Given the description of an element on the screen output the (x, y) to click on. 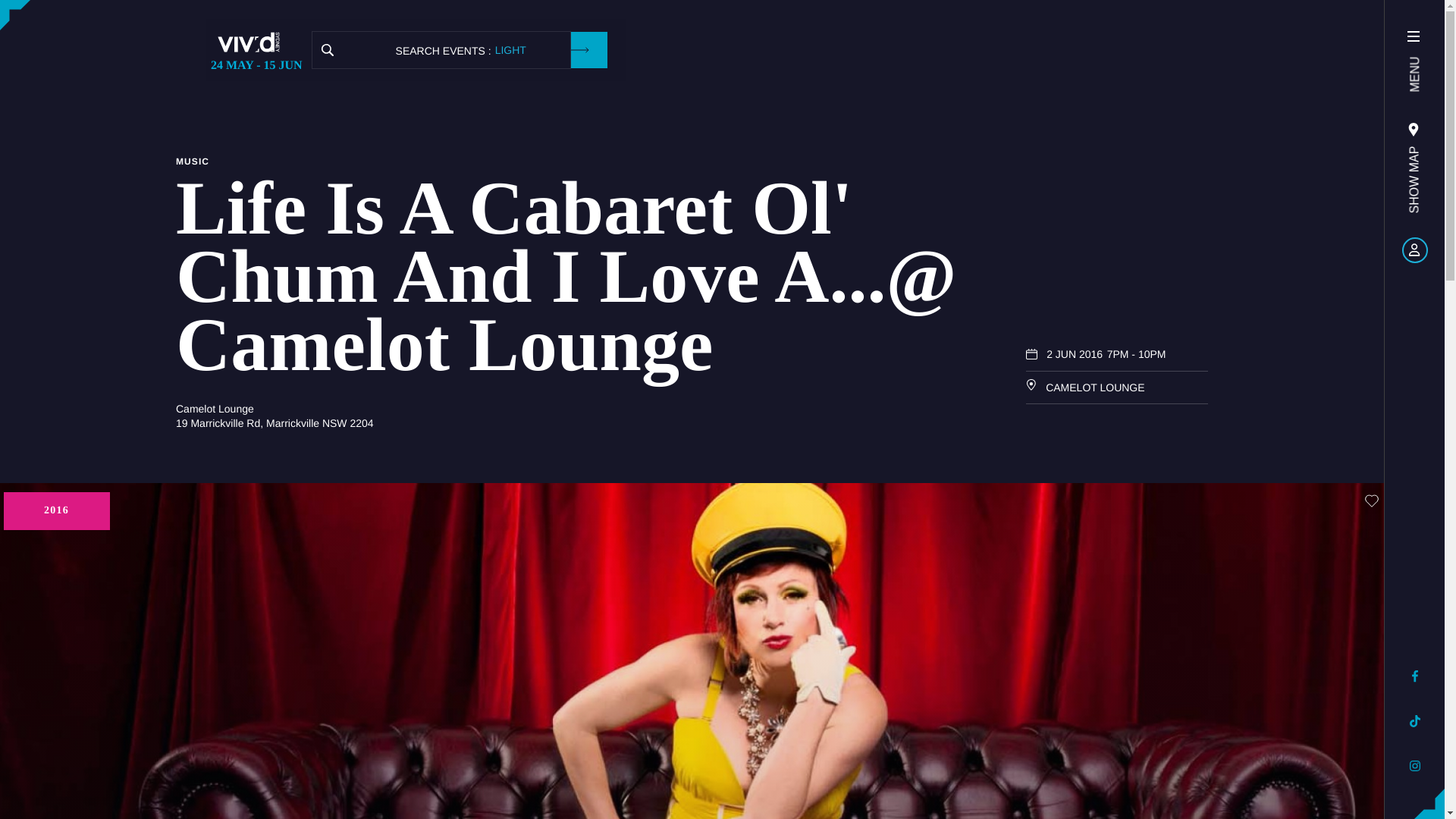
Search (327, 49)
Vivid Sydney (256, 42)
